Given the description of an element on the screen output the (x, y) to click on. 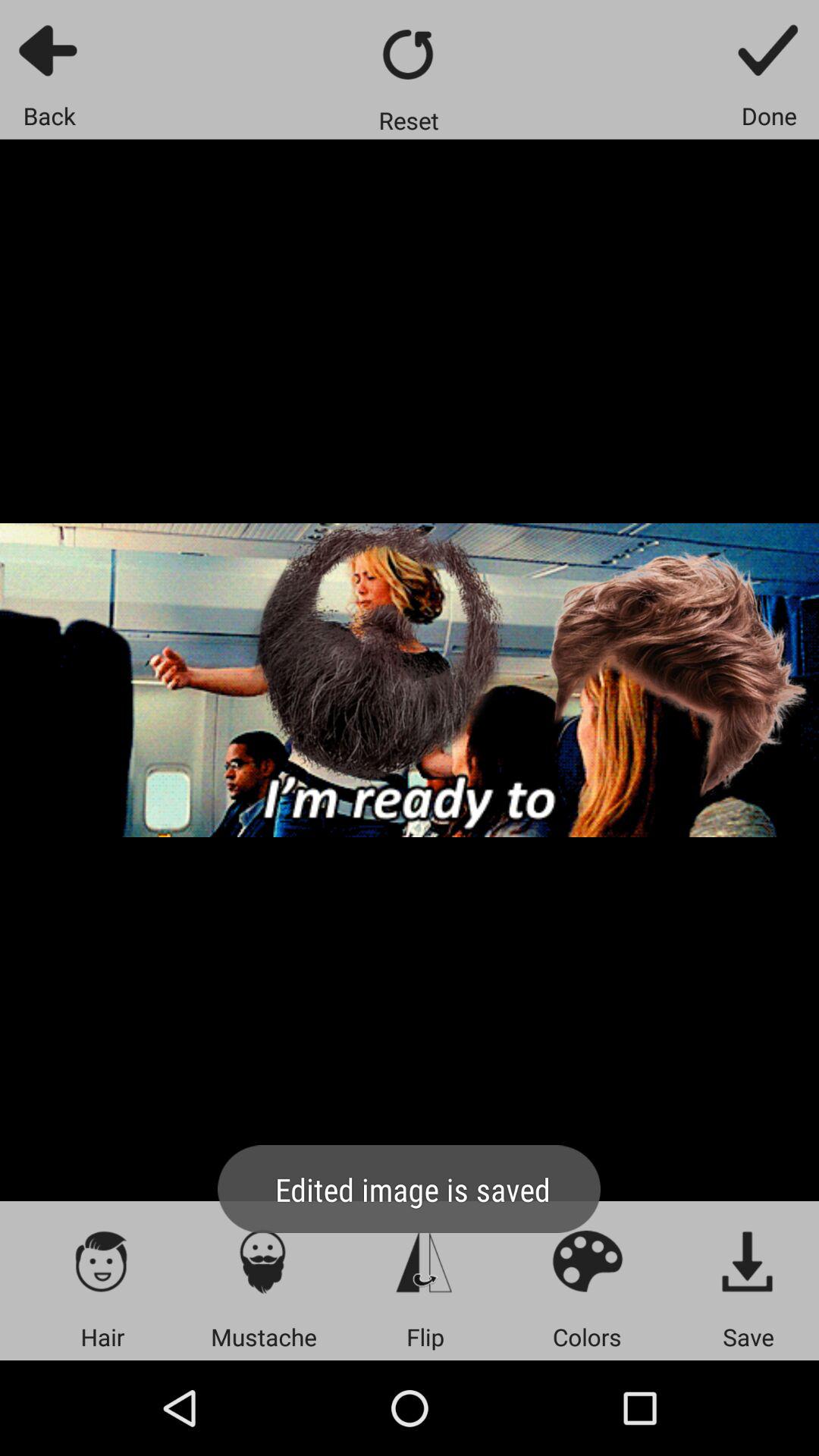
add hair (102, 1260)
